Given the description of an element on the screen output the (x, y) to click on. 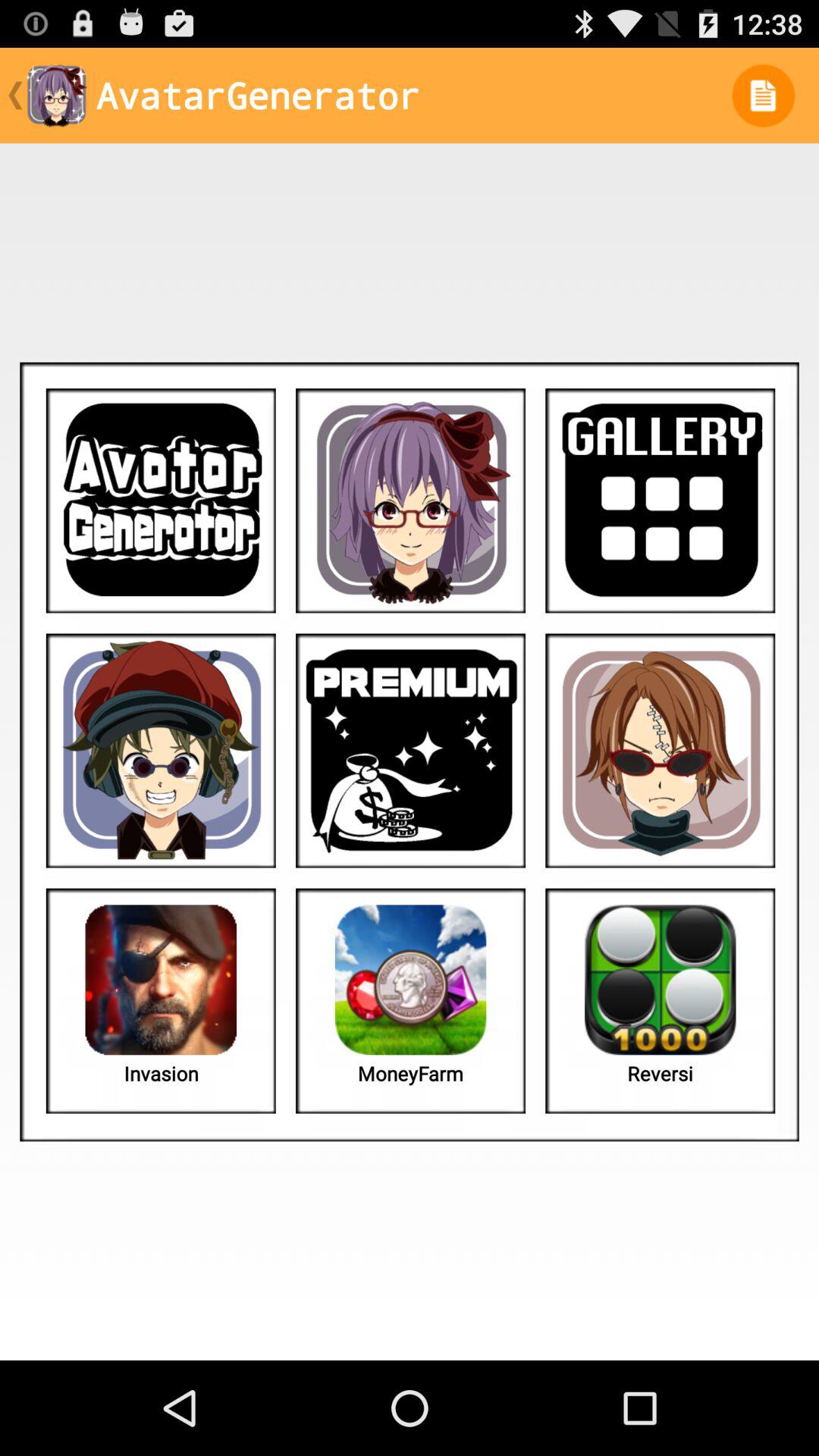
select the image (410, 500)
